Given the description of an element on the screen output the (x, y) to click on. 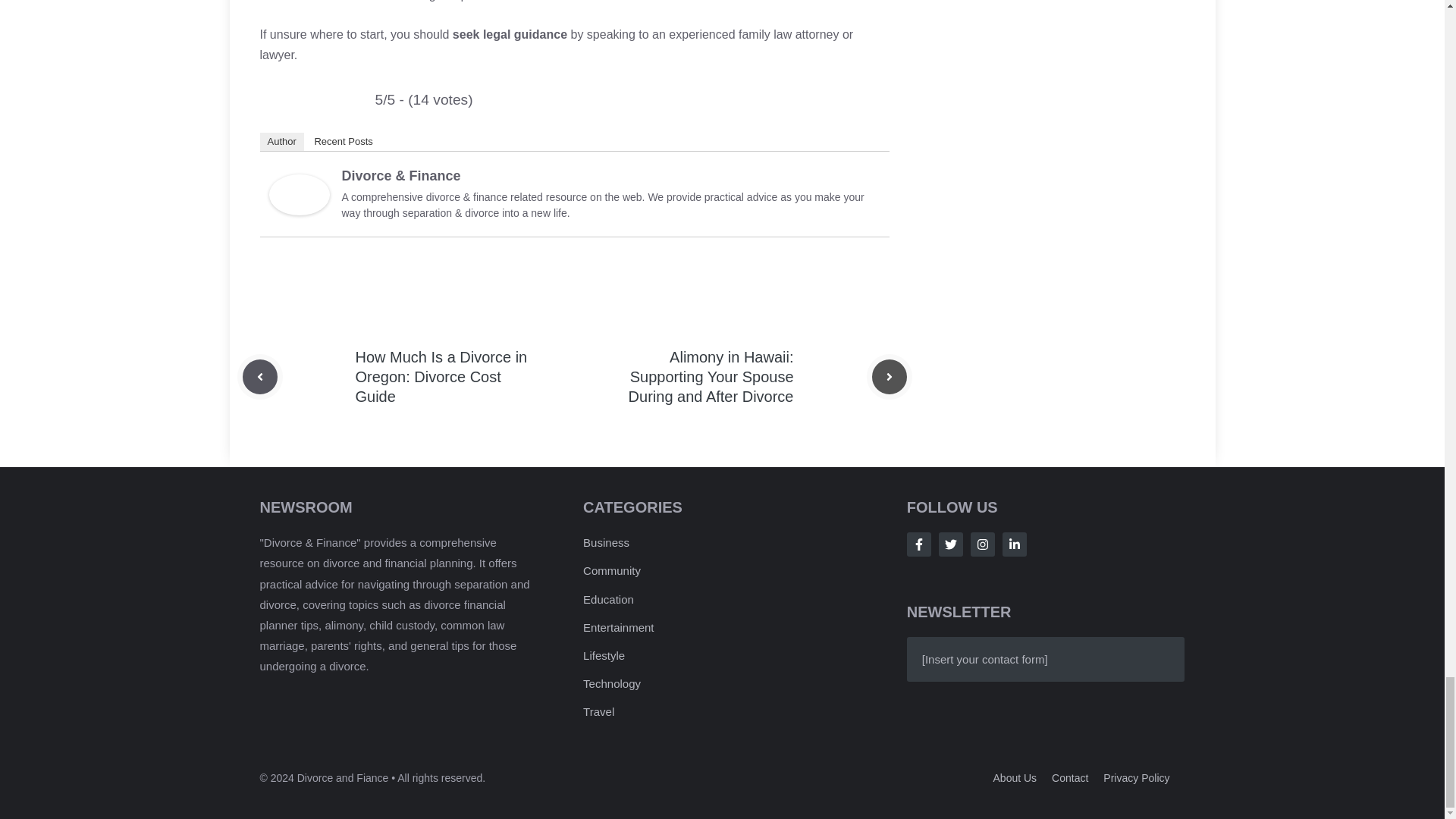
Author (280, 141)
Recent Posts (342, 141)
How Much Is a Divorce in Oregon: Divorce Cost Guide (441, 376)
